Given the description of an element on the screen output the (x, y) to click on. 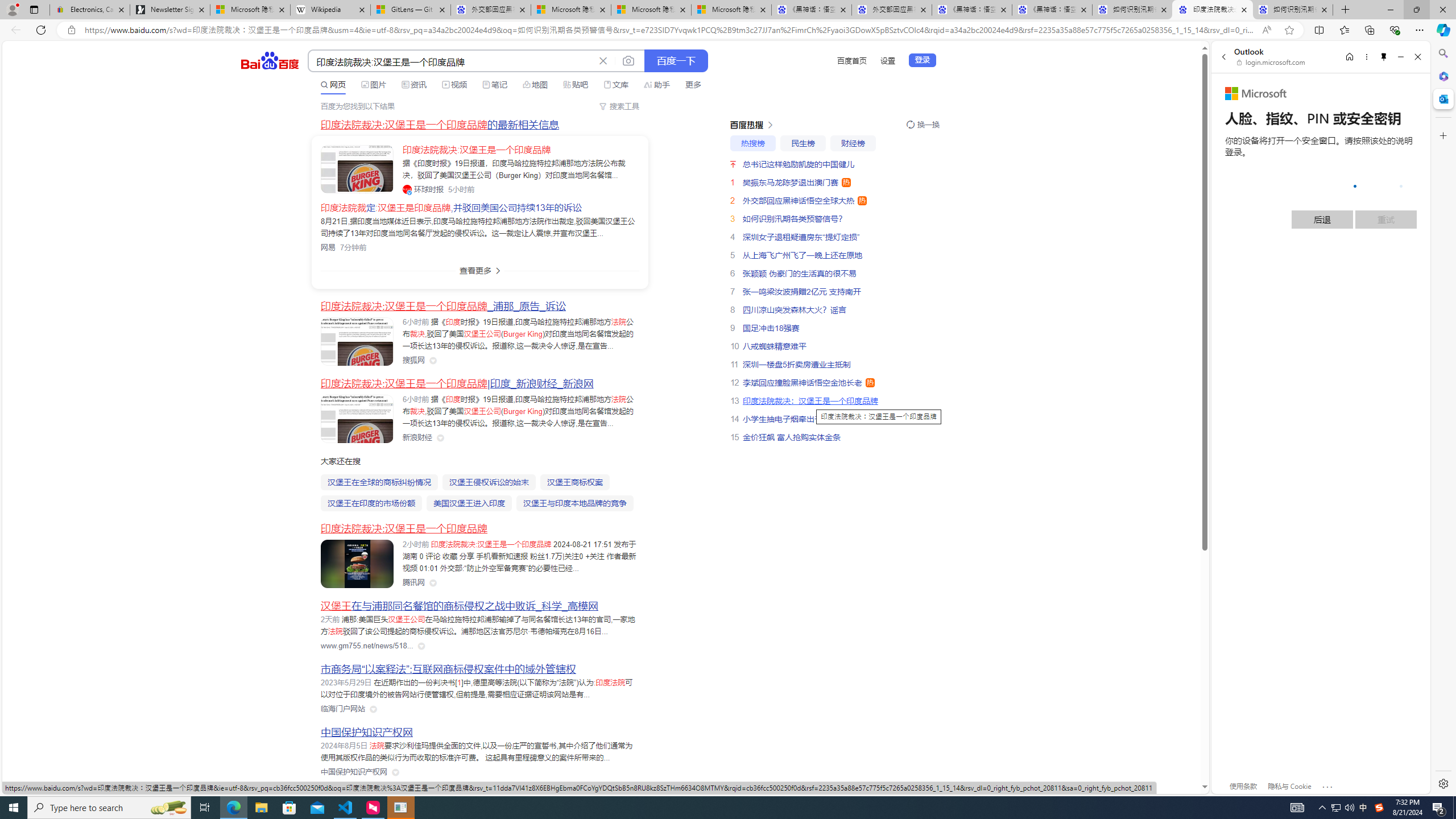
Newsletter Sign Up (170, 9)
Microsoft (1255, 93)
